Given the description of an element on the screen output the (x, y) to click on. 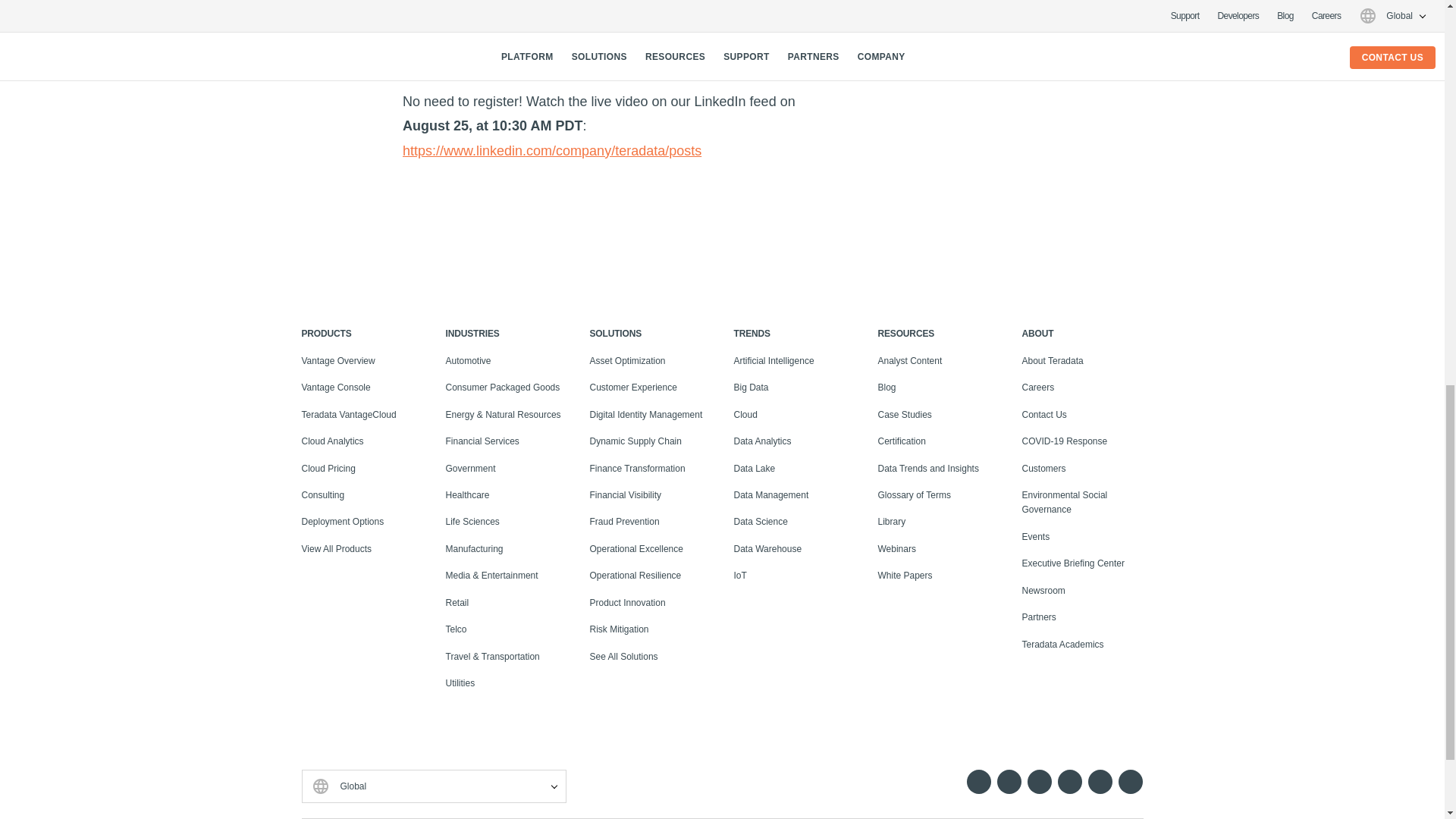
Vantage Console (336, 387)
View All Products (336, 548)
Cloud Analytics (332, 440)
Deployment Options (342, 521)
Vantage Overview (338, 360)
Consumer Packaged Goods (502, 387)
Consulting (323, 494)
Teradata VantageCloud (348, 414)
Automotive (468, 360)
Cloud Pricing (328, 468)
